Given the description of an element on the screen output the (x, y) to click on. 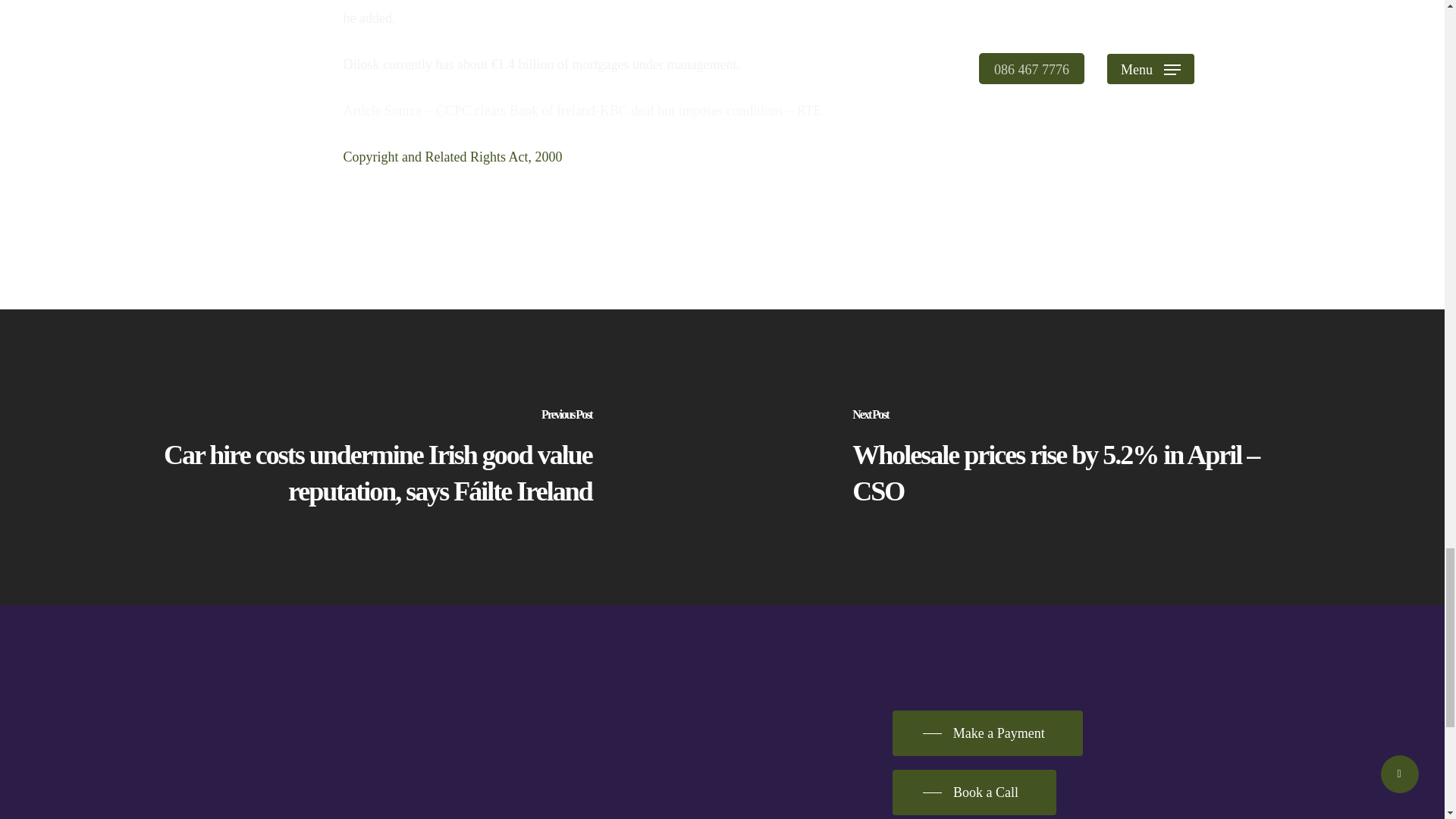
Make a Payment (987, 733)
Book a Call (974, 792)
Copyright and Related Rights Act, 2000 (452, 156)
